Given the description of an element on the screen output the (x, y) to click on. 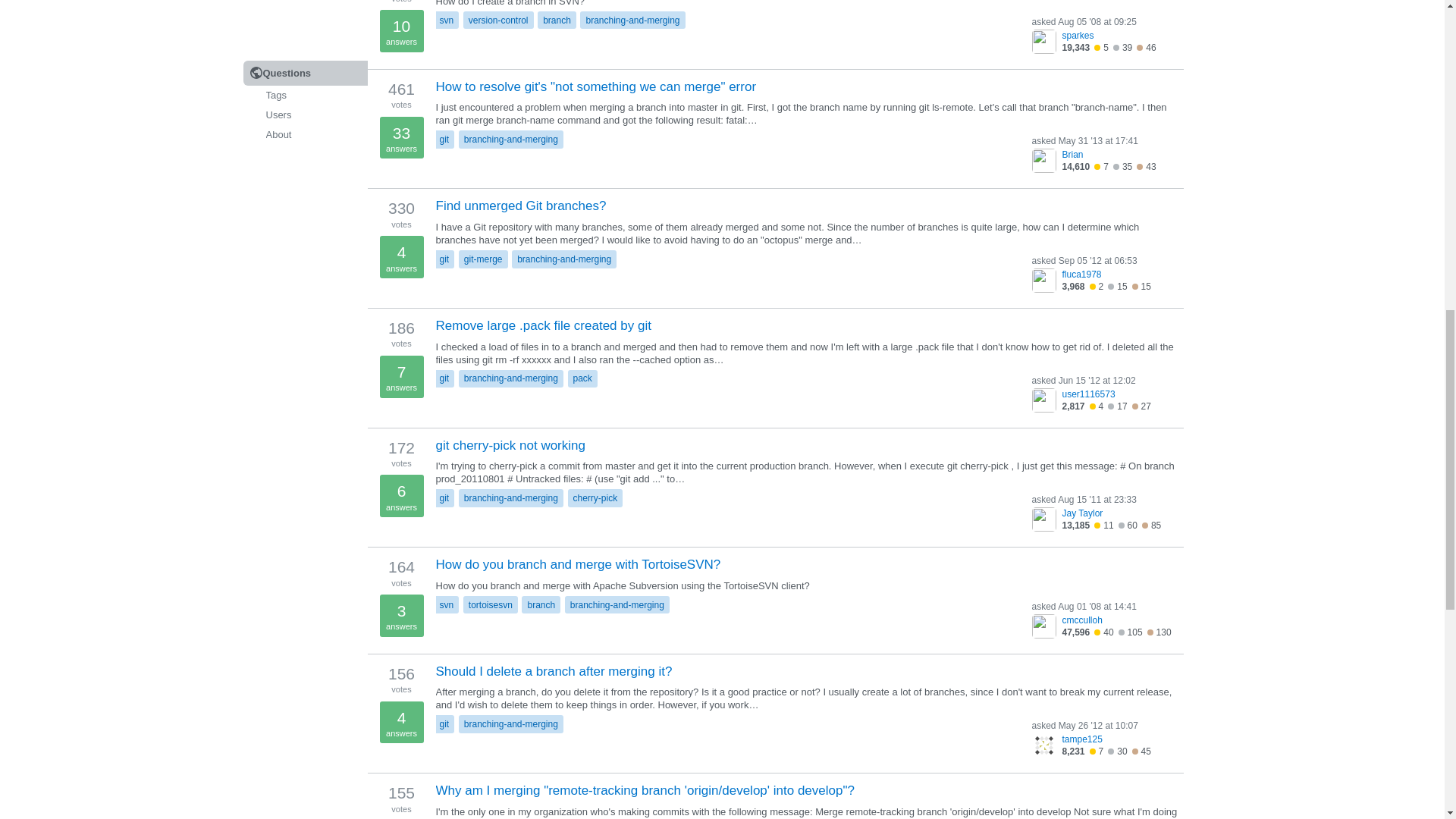
version-control (498, 20)
svn (445, 20)
branch (556, 20)
